Given the description of an element on the screen output the (x, y) to click on. 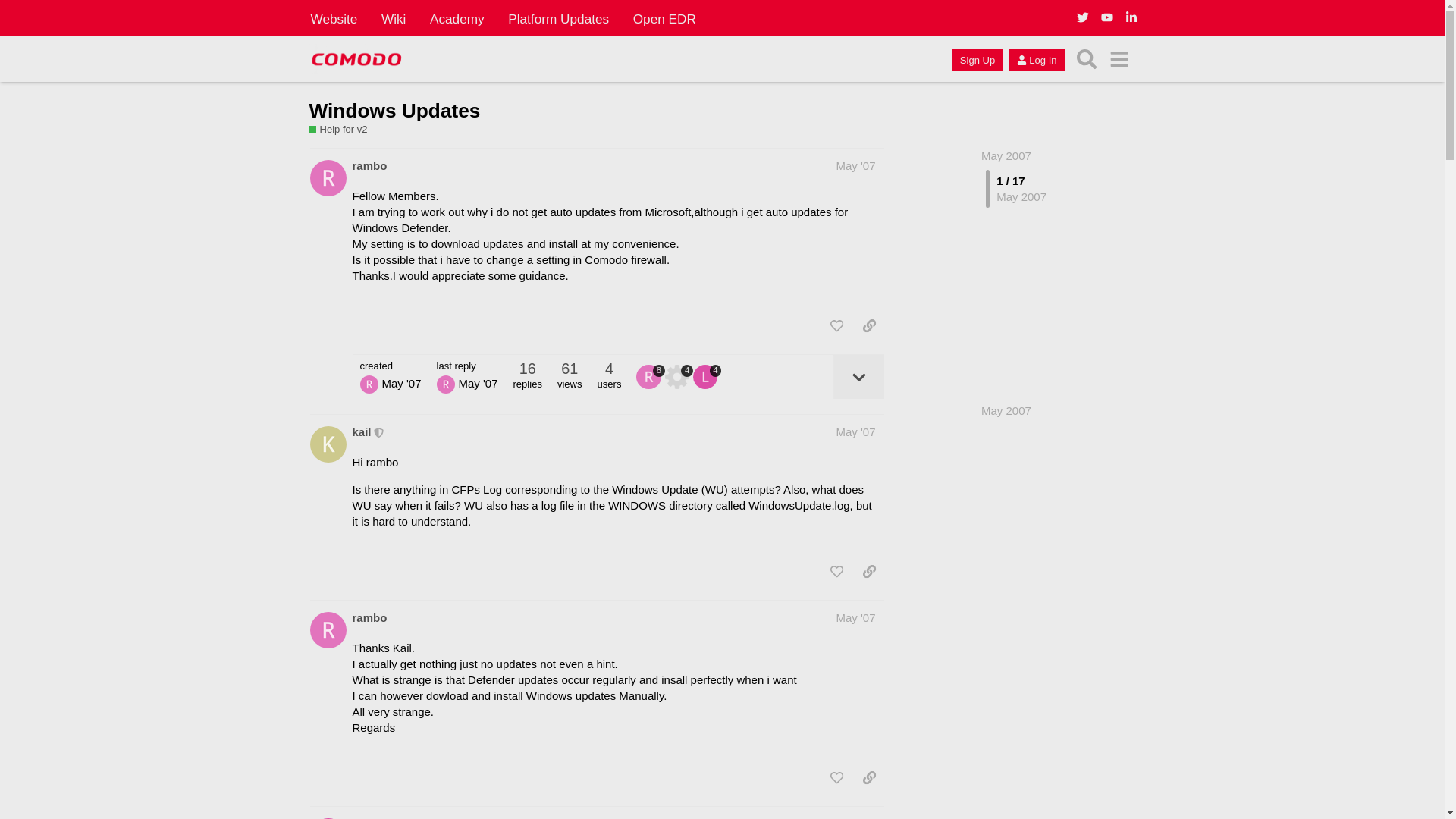
May 2007 (1005, 155)
May '07 (855, 164)
Wiki (393, 18)
May '07 (855, 431)
rambo (369, 165)
Wiki (393, 18)
4 (679, 376)
Log In (1036, 60)
4 (706, 376)
May 11, 2007 6:29 am (1005, 410)
